Given the description of an element on the screen output the (x, y) to click on. 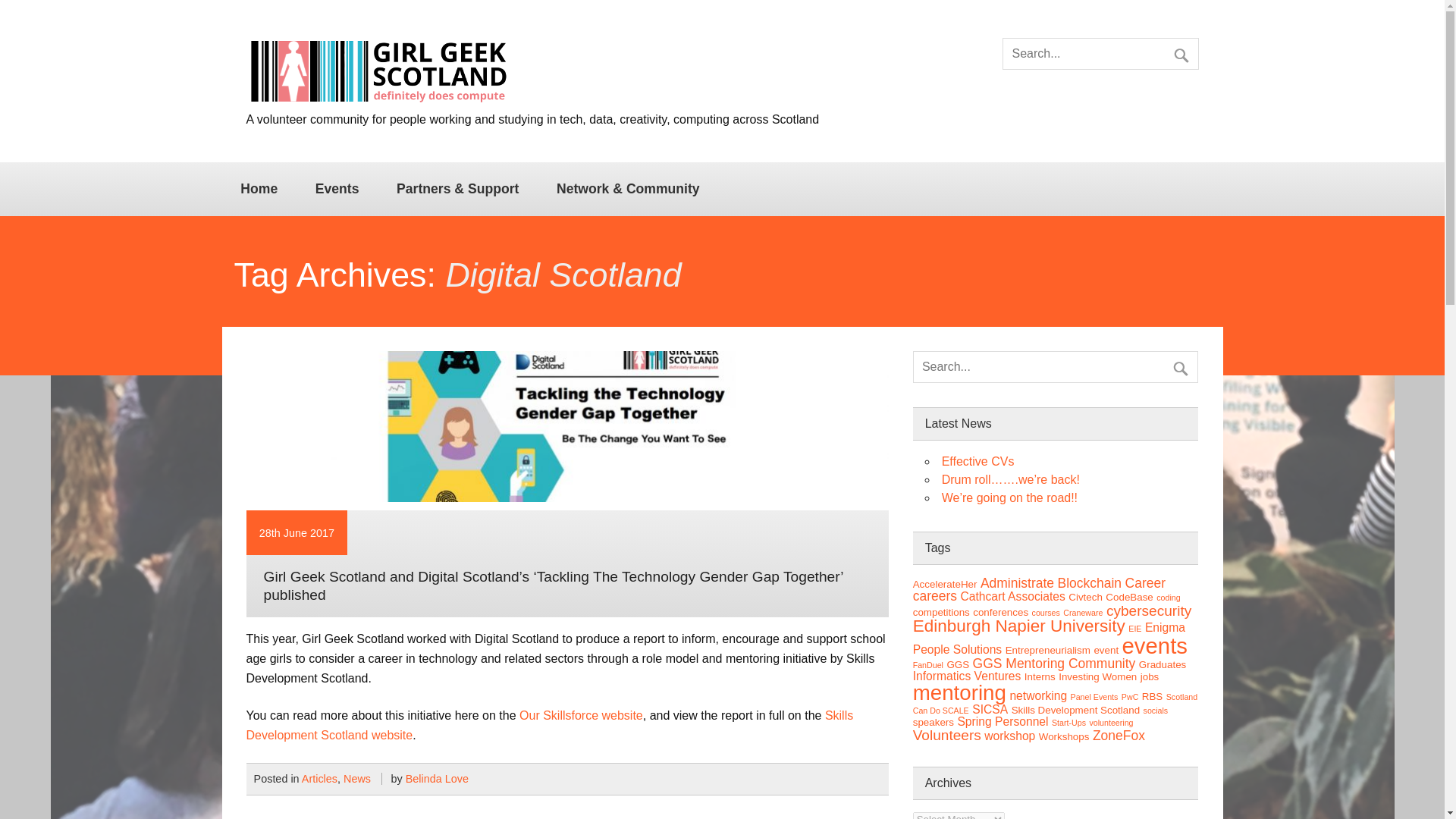
Girl Geek Scotland (377, 102)
View all posts by Belinda Love (437, 778)
28th June 2017 (296, 532)
Belinda Love (437, 778)
News (357, 778)
4:50 pm (296, 532)
Skills Development Scotland website (549, 725)
Our Skillsforce website (581, 715)
Articles (319, 778)
Effective CVs (978, 461)
AccelerateHer (944, 583)
Events (336, 188)
Home (257, 188)
